Given the description of an element on the screen output the (x, y) to click on. 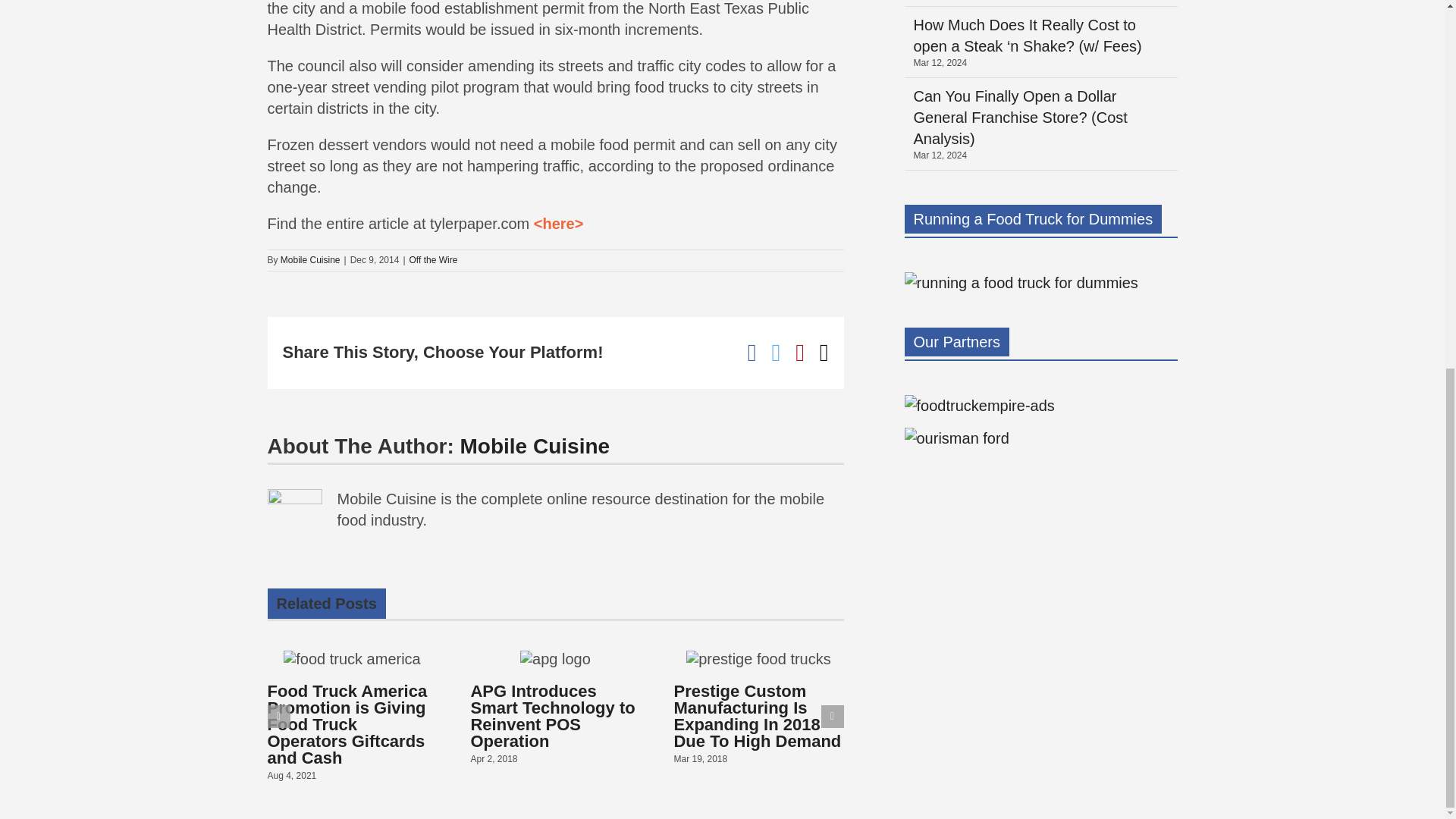
Posts by Mobile Cuisine (310, 259)
Posts by Mobile Cuisine (535, 445)
APG Introduces Smart Technology to  Reinvent POS Operation (552, 716)
